Given the description of an element on the screen output the (x, y) to click on. 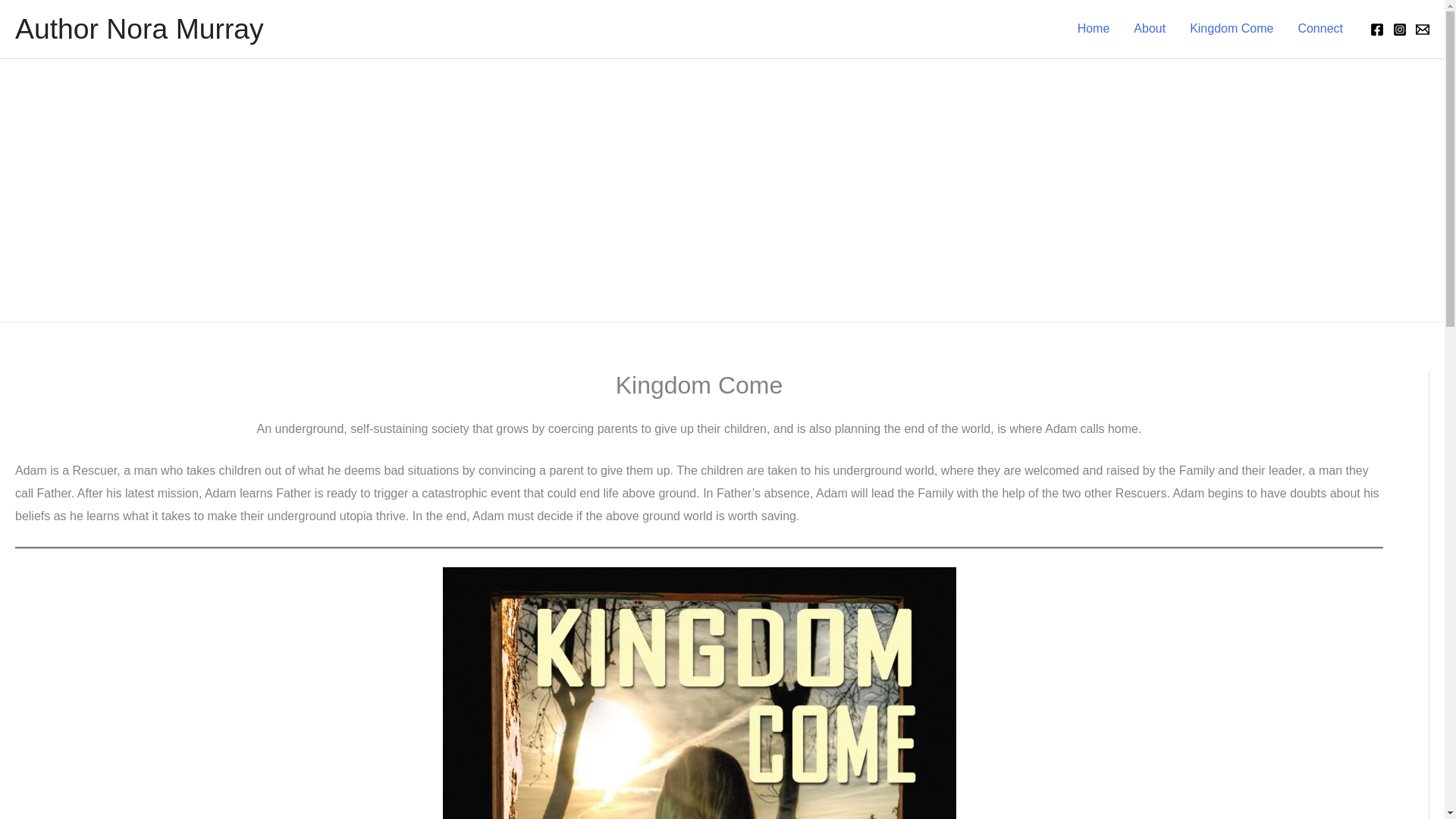
Connect (1320, 28)
Author Nora Murray (138, 29)
About (1149, 28)
Kingdom Come (1231, 28)
Home (1093, 28)
